Given the description of an element on the screen output the (x, y) to click on. 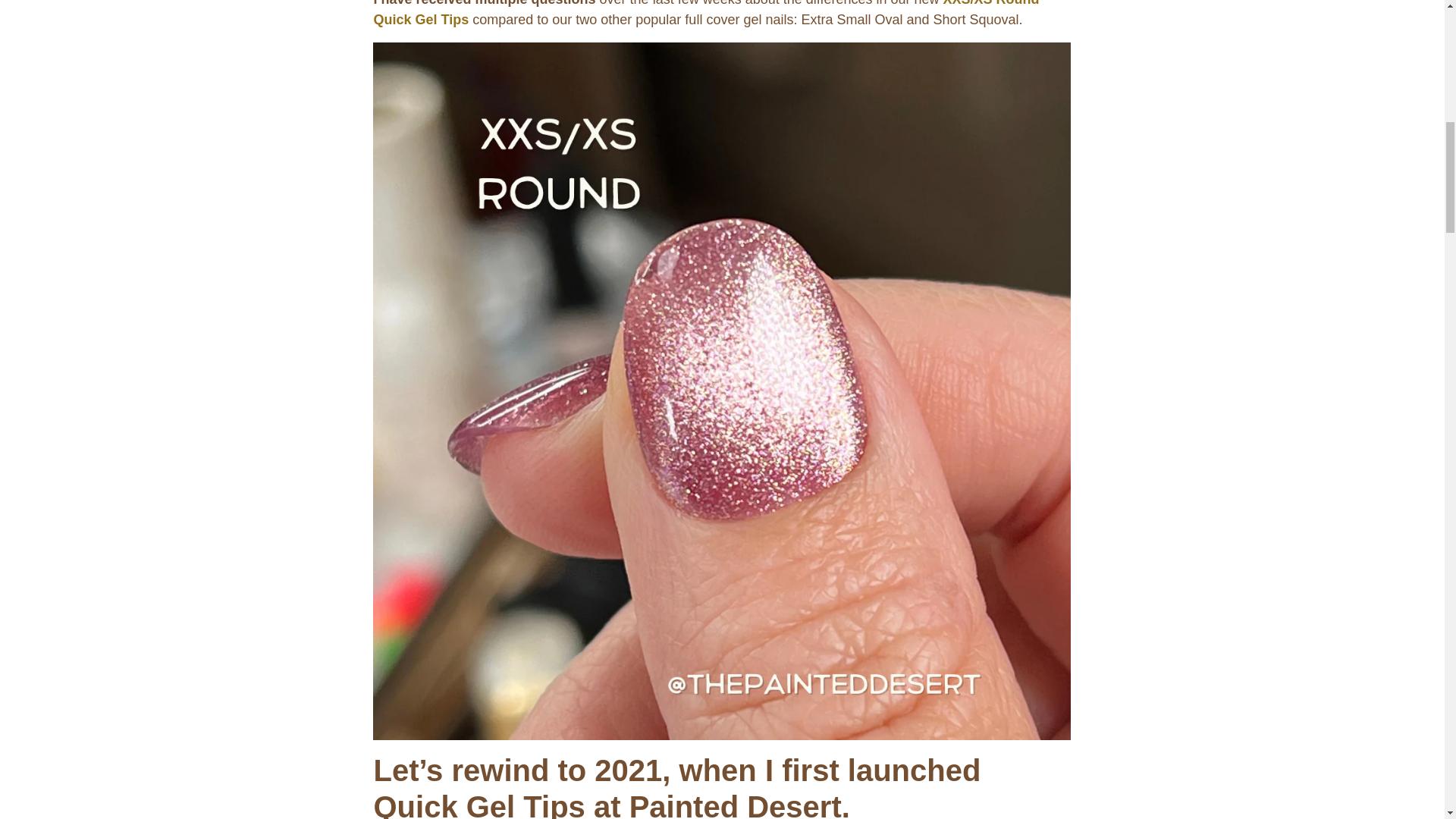
XXS Round Full cover gel nail tips extensions presson nails (721, 390)
XXS Round Gel Nail Tips (705, 13)
